Given the description of an element on the screen output the (x, y) to click on. 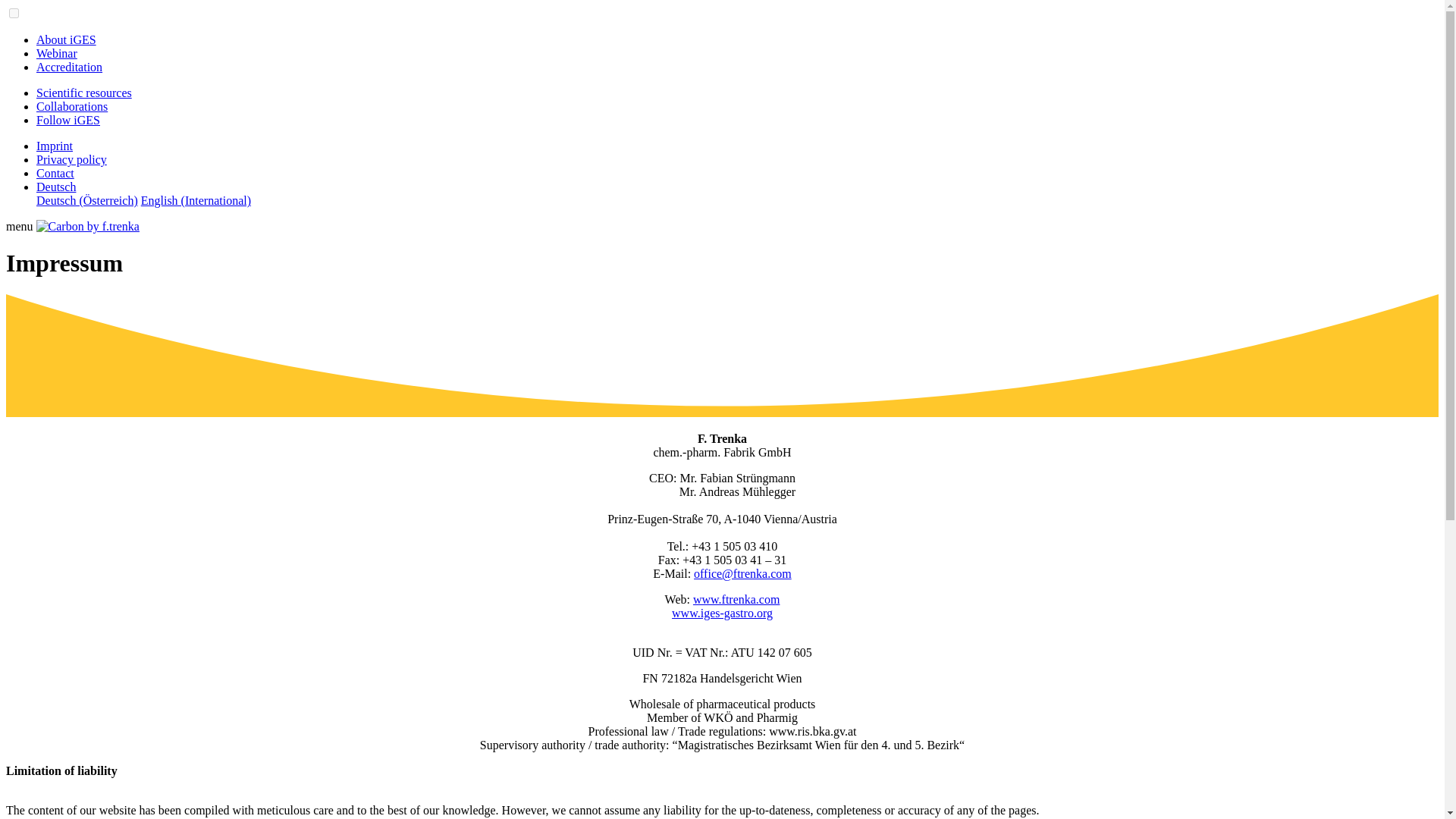
Contact (55, 173)
Imprint (54, 145)
Webinar (56, 52)
www.ftrenka.com (735, 599)
Deutsch (55, 186)
on (13, 13)
Privacy policy (71, 159)
Scientific resources (84, 92)
Accreditation (68, 66)
Follow iGES (68, 119)
